Given the description of an element on the screen output the (x, y) to click on. 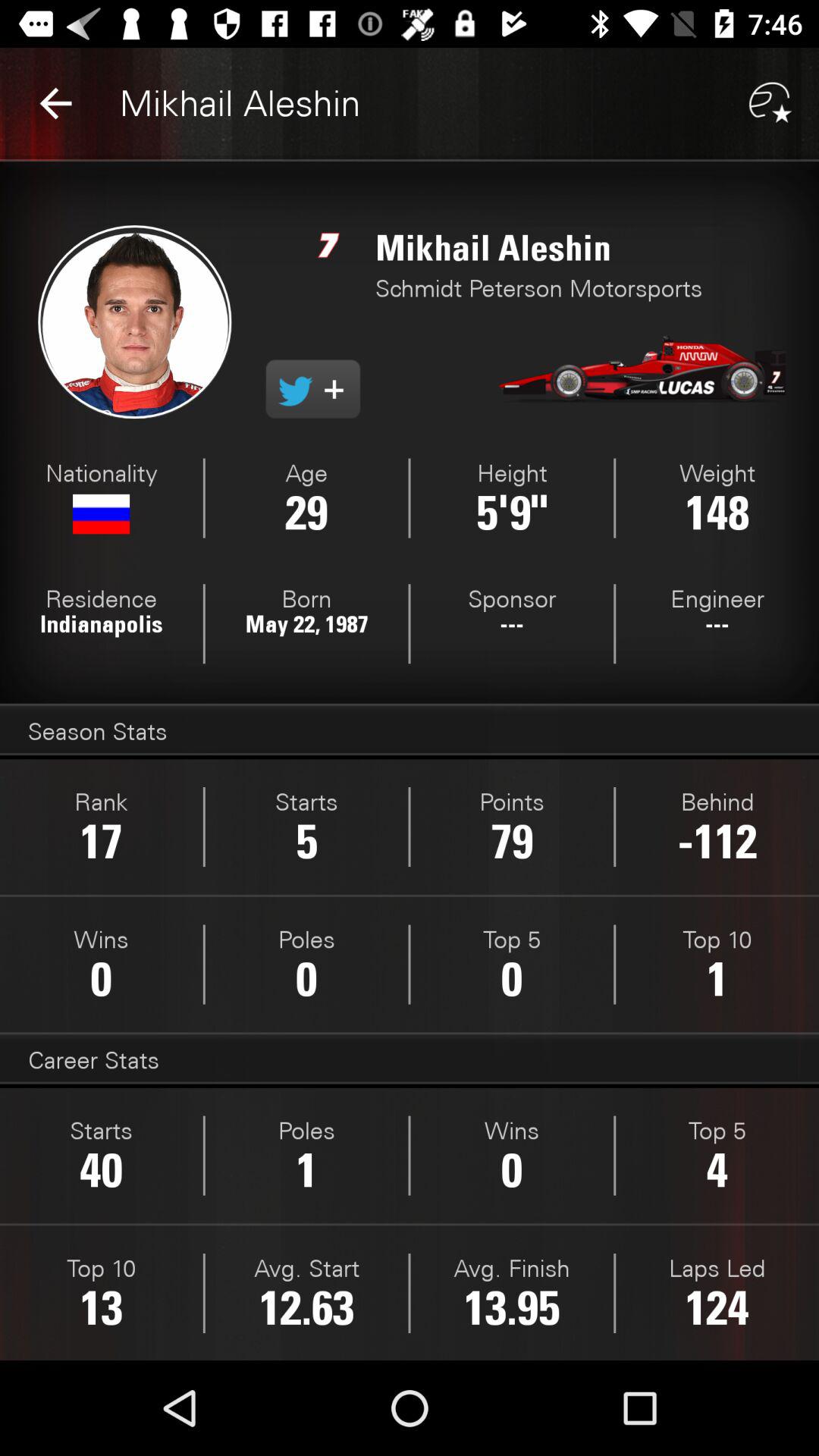
follow on twitter (312, 388)
